Given the description of an element on the screen output the (x, y) to click on. 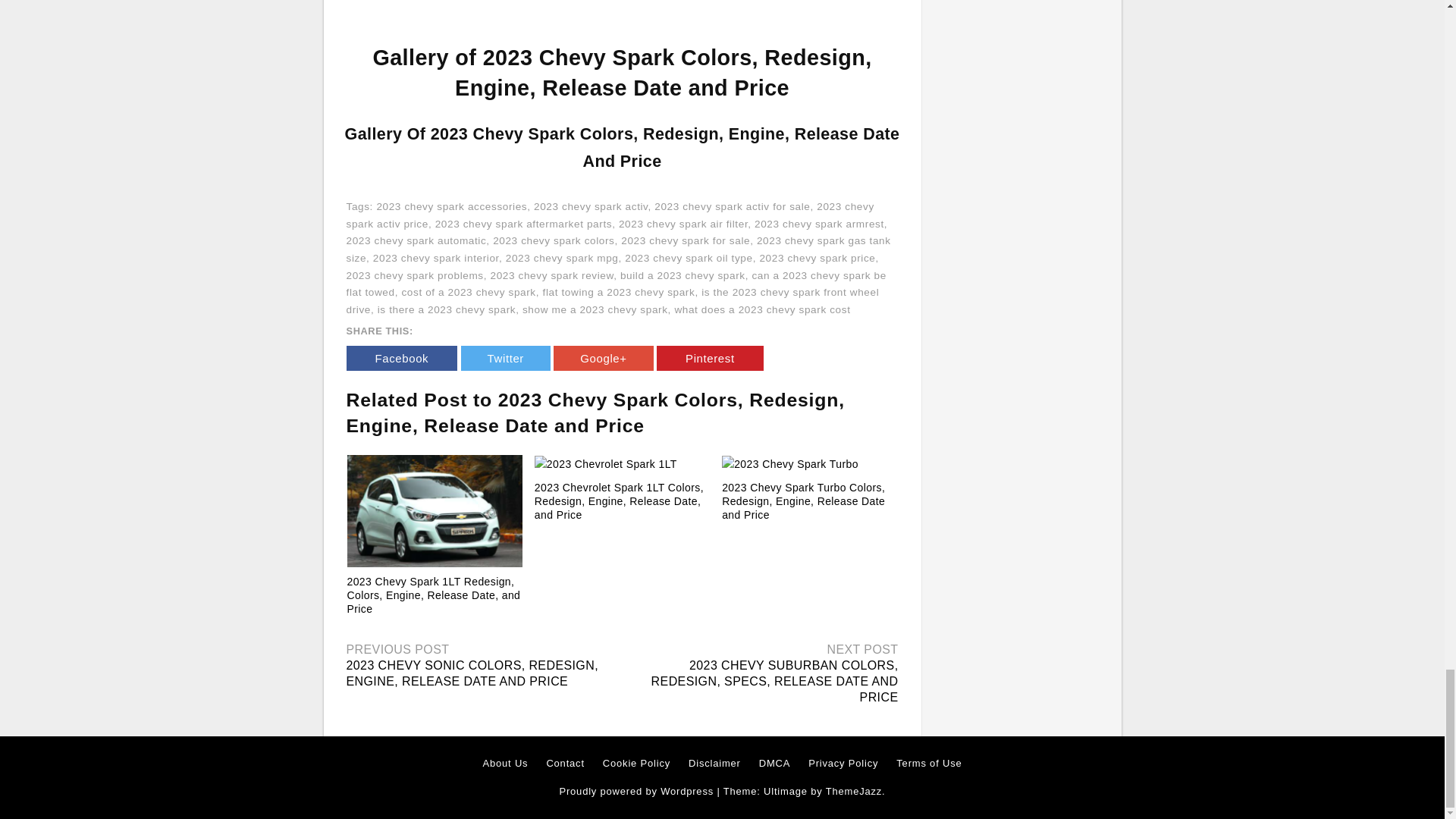
2023 chevy spark accessories (451, 206)
2023 chevy spark activ for sale (731, 206)
2023 chevy spark activ (590, 206)
2023 chevy spark for sale (685, 240)
2023 chevy spark automatic (416, 240)
2023 chevy spark activ price (609, 215)
2023 chevy spark colors (553, 240)
2023 chevy spark gas tank size (617, 249)
2023 chevy spark aftermarket parts (523, 224)
2023 chevy spark armrest (818, 224)
2023 chevy spark air filter (683, 224)
